Given the description of an element on the screen output the (x, y) to click on. 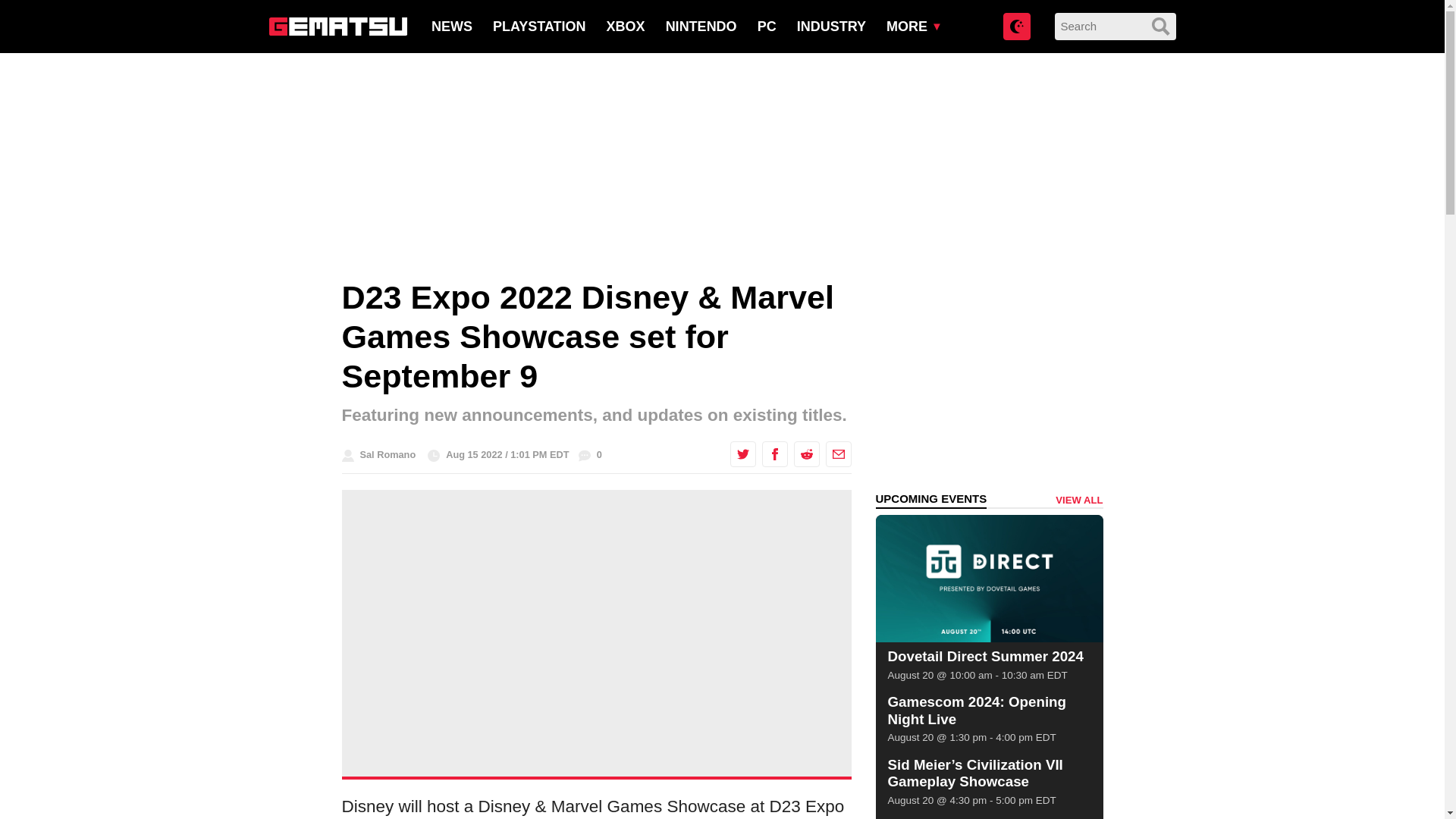
Share this by email (837, 453)
MORE (906, 26)
PLAYSTATION (539, 26)
Gematsu (336, 26)
Share this on Twitter (742, 453)
Share this on Reddit (805, 453)
NEWS (450, 26)
NINTENDO (700, 26)
XBOX (626, 26)
PC (766, 26)
